Given the description of an element on the screen output the (x, y) to click on. 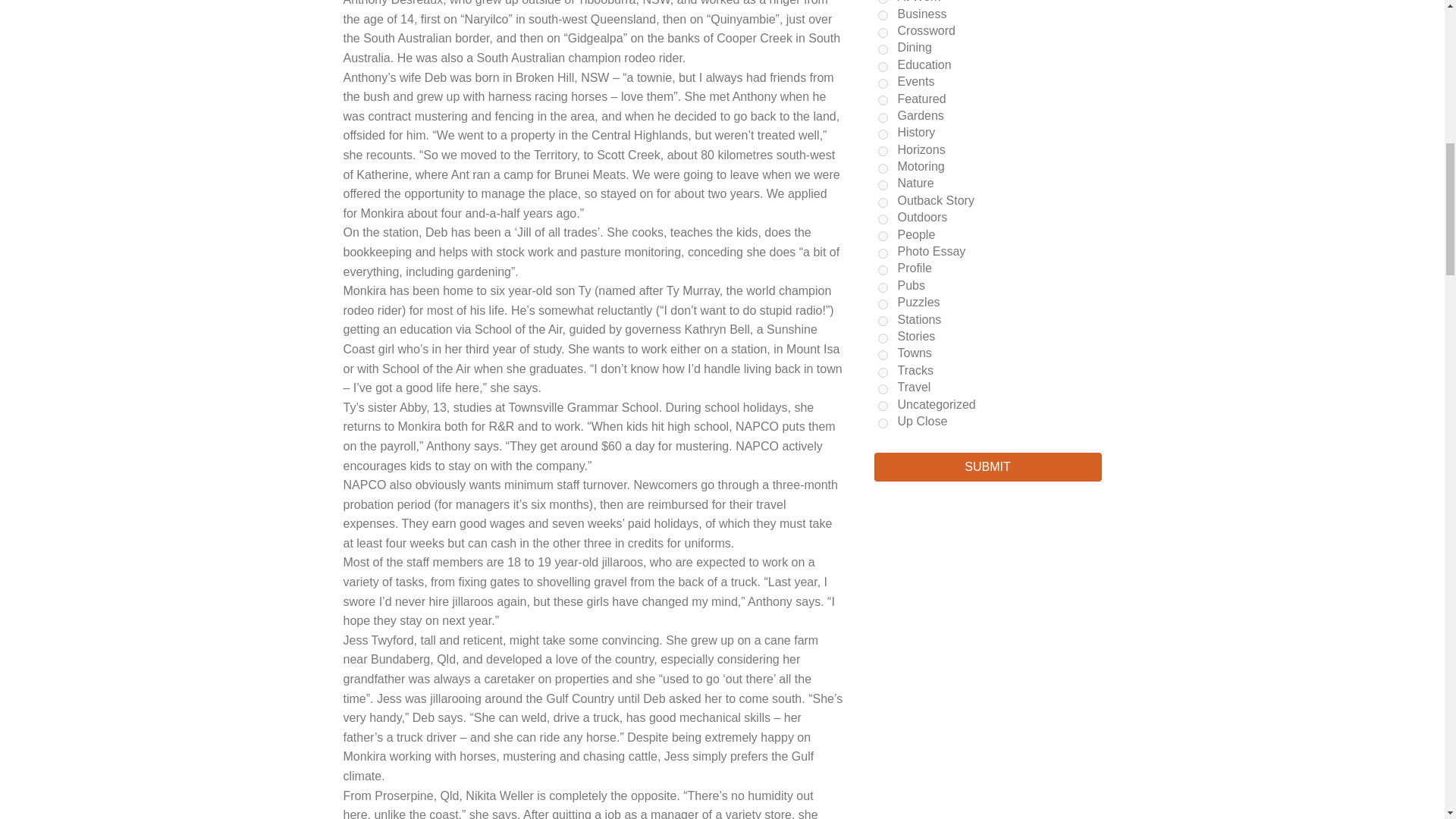
nature (882, 185)
gardens (882, 117)
outback-story (882, 203)
business (882, 15)
motoring (882, 168)
dining (882, 49)
crossword (882, 32)
events (882, 83)
featured (882, 100)
at-work (882, 2)
